Given the description of an element on the screen output the (x, y) to click on. 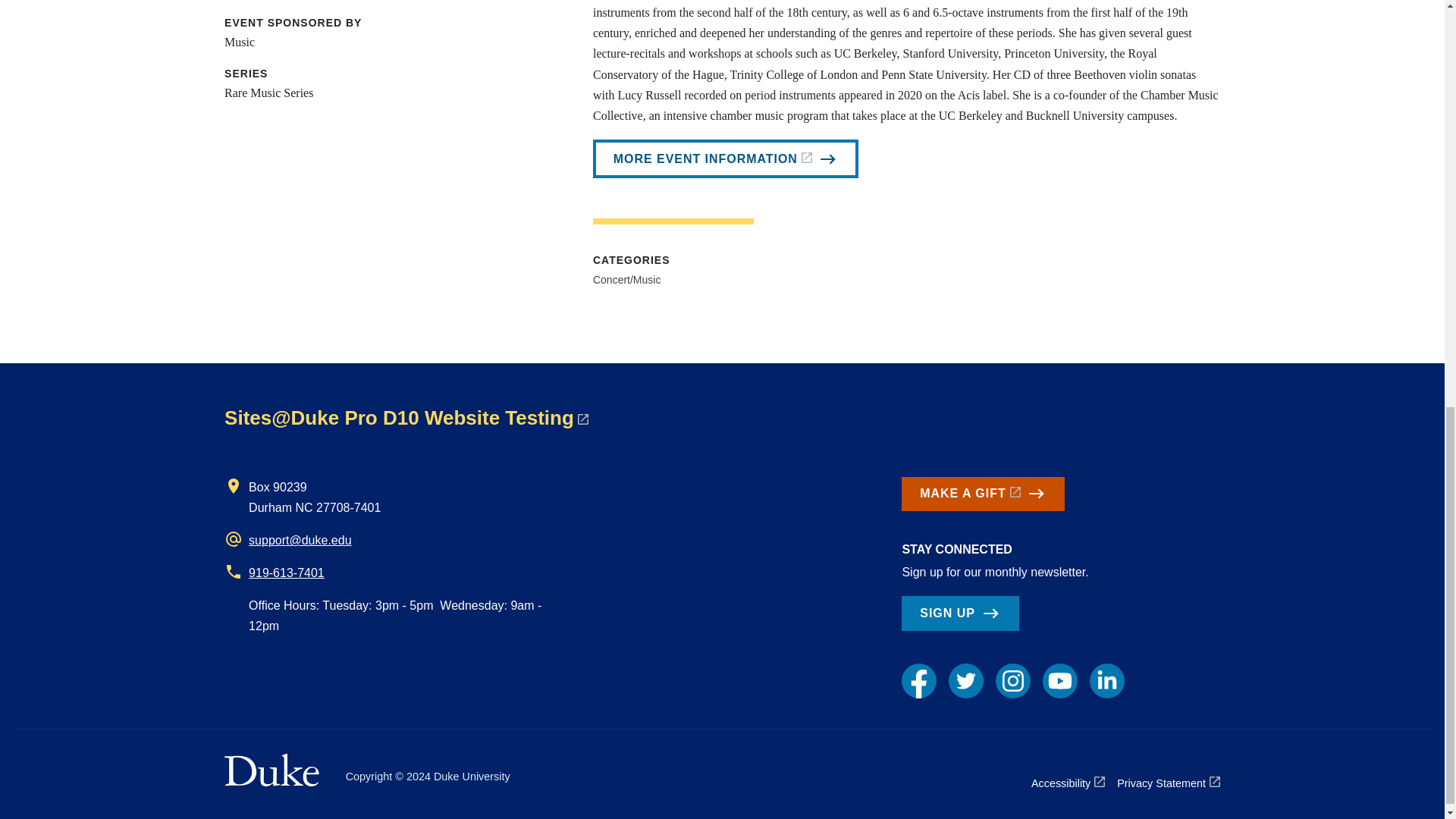
Twitter link (966, 680)
919-613-7401 (286, 572)
Accessibility (1067, 782)
MAKE A GIFT (982, 493)
YouTube link (1059, 680)
Instagram link (1012, 680)
Privacy Statement (1168, 782)
Facebook link (918, 680)
LinkedIn link (1106, 680)
SIGN UP (959, 613)
